Given the description of an element on the screen output the (x, y) to click on. 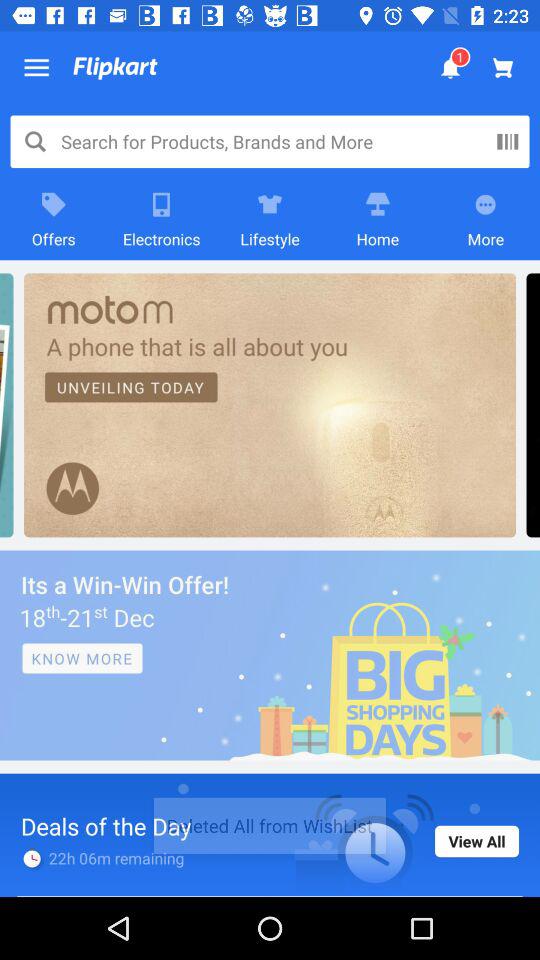
swipe to the view all icon (477, 841)
